Given the description of an element on the screen output the (x, y) to click on. 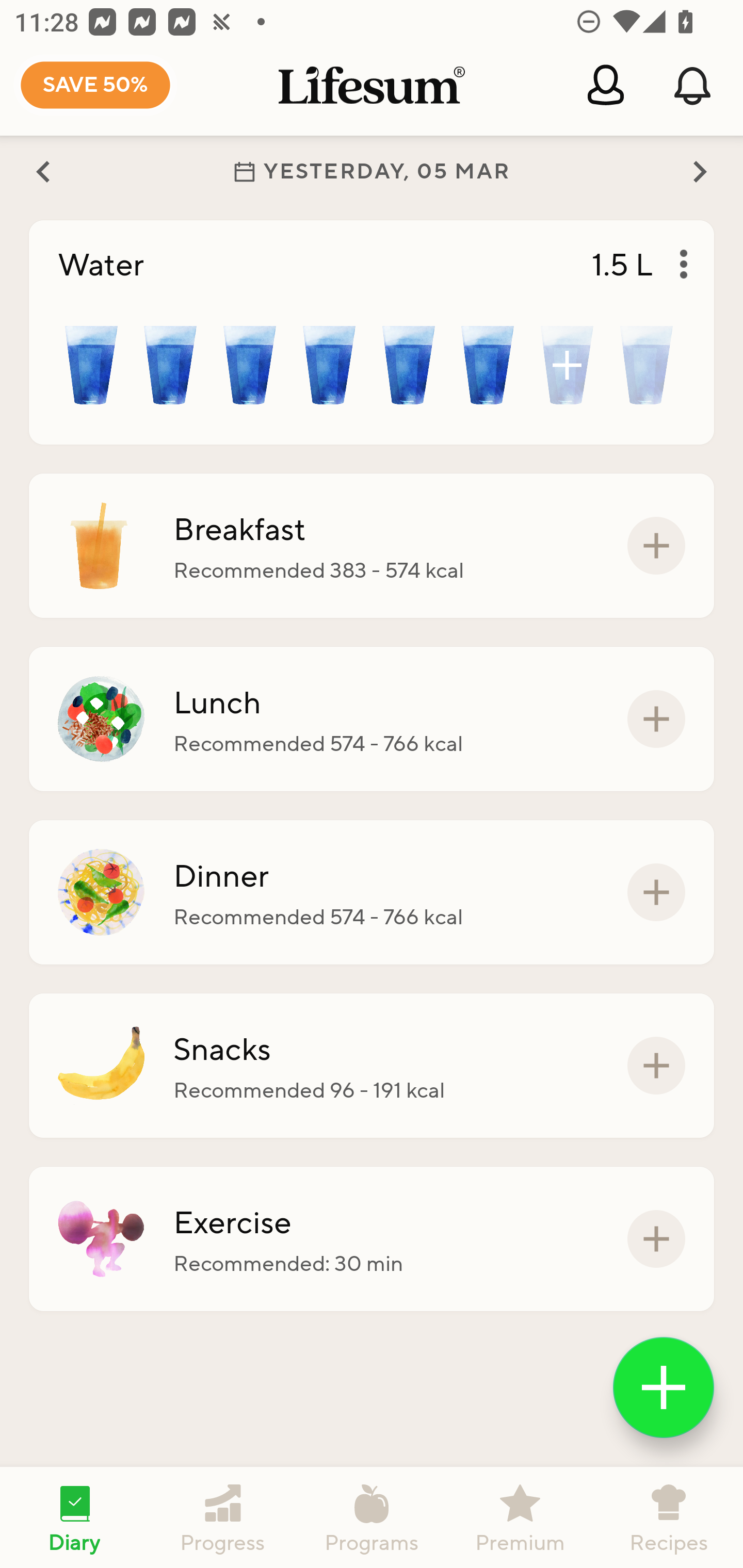
YESTERDAY, 05 MAR (371, 171)
Breakfast Recommended 383 - 574 kcal (371, 545)
Lunch Recommended 574 - 766 kcal (371, 718)
Dinner Recommended 574 - 766 kcal (371, 892)
Snacks Recommended 96 - 191 kcal (371, 1066)
Exercise Recommended: 30 min (371, 1238)
Progress (222, 1517)
Programs (371, 1517)
Premium (519, 1517)
Recipes (668, 1517)
